Given the description of an element on the screen output the (x, y) to click on. 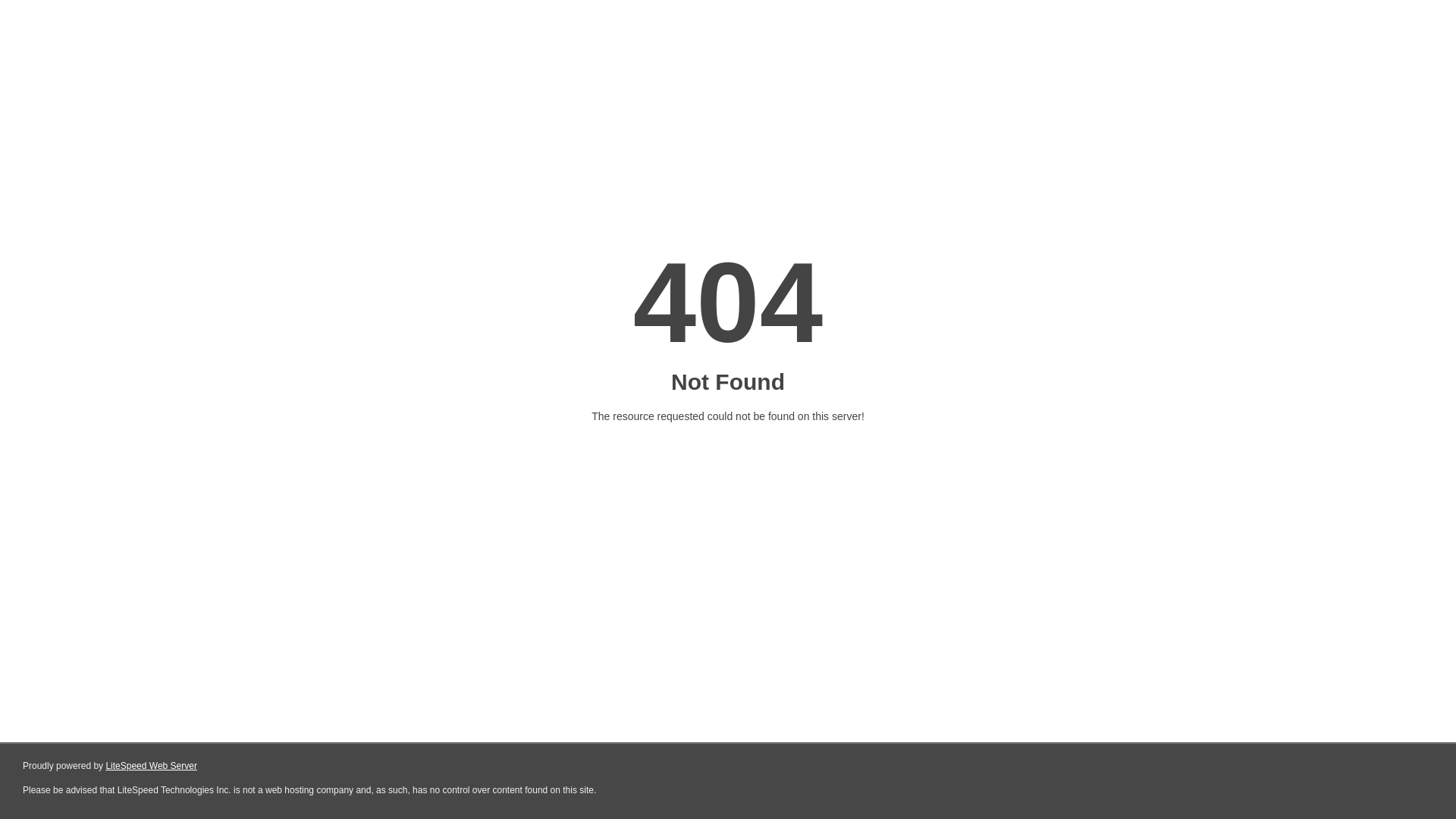
LiteSpeed Web Server Element type: text (151, 765)
